Given the description of an element on the screen output the (x, y) to click on. 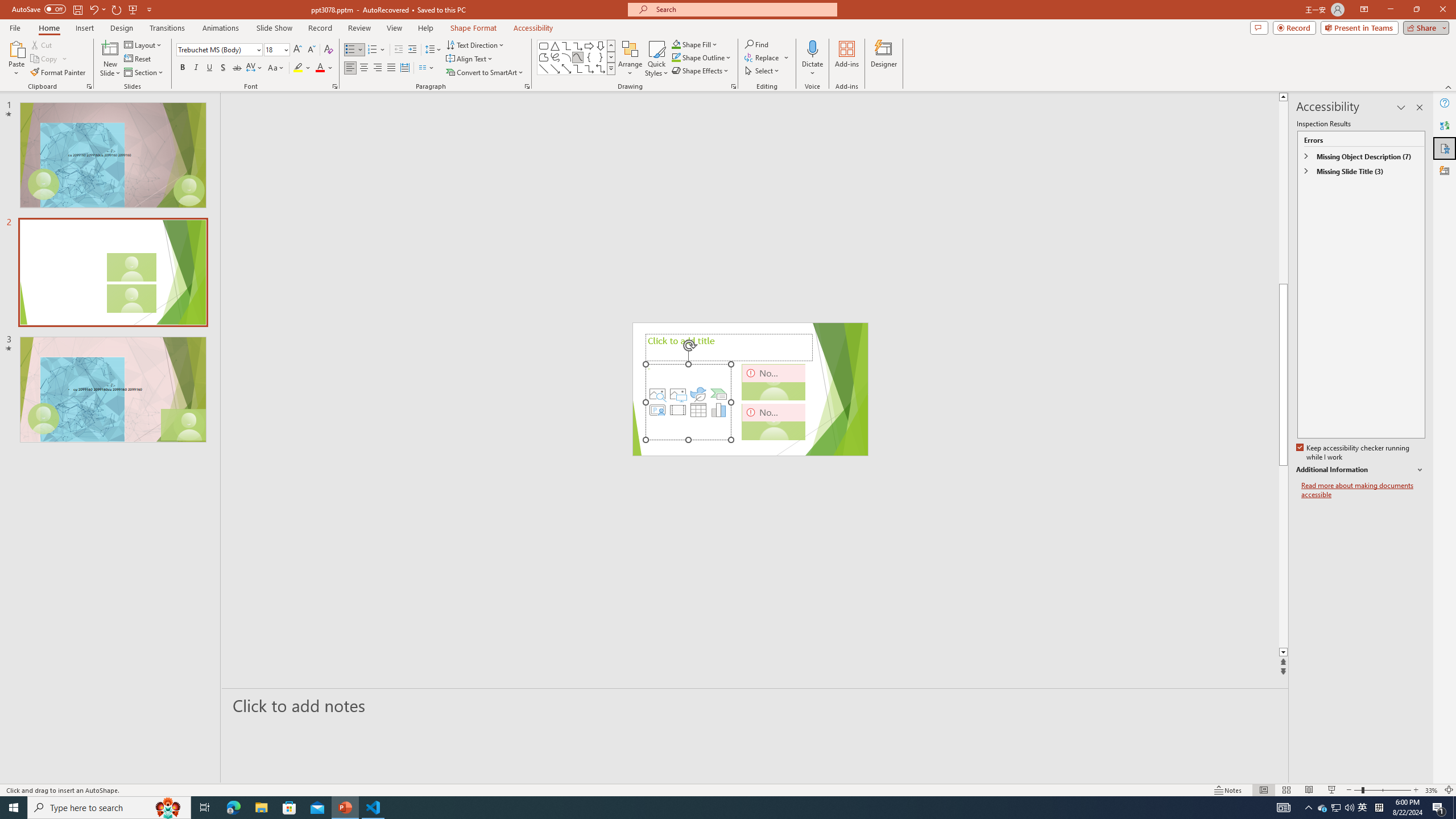
Connector: Elbow Double-Arrow (600, 68)
